Given the description of an element on the screen output the (x, y) to click on. 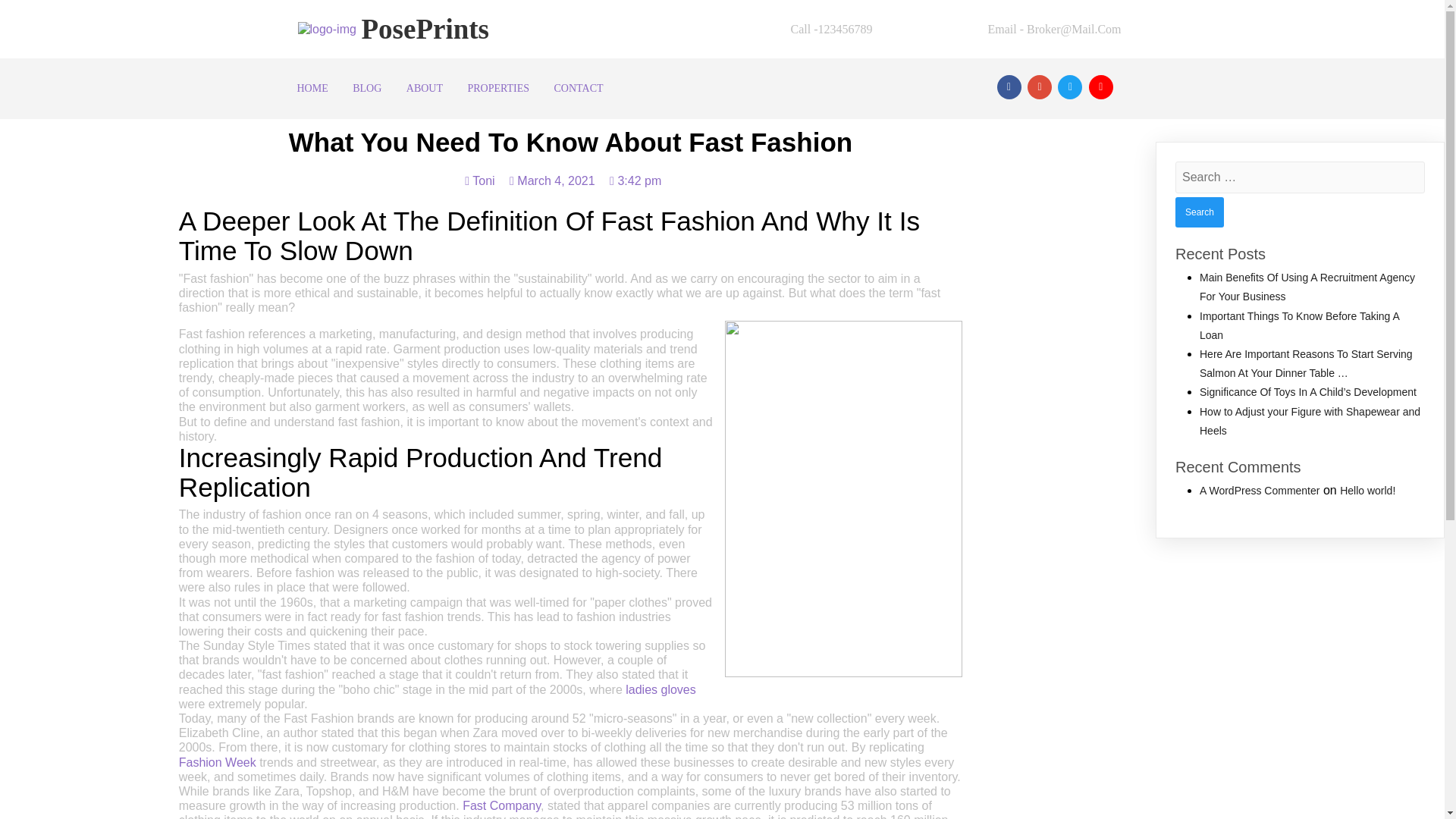
Hello world! (1366, 490)
PROPERTIES (498, 88)
Important Things To Know Before Taking A Loan (1299, 325)
March 4, 2021 (552, 180)
ABOUT (424, 88)
BLOG (366, 88)
Fashion Week (217, 762)
How to Adjust your Figure with Shapewear and Heels (1310, 419)
HOME (312, 88)
3:42 pm (635, 180)
ladies gloves (660, 689)
Search (1199, 212)
Search (1199, 212)
Fast Company (501, 805)
